Given the description of an element on the screen output the (x, y) to click on. 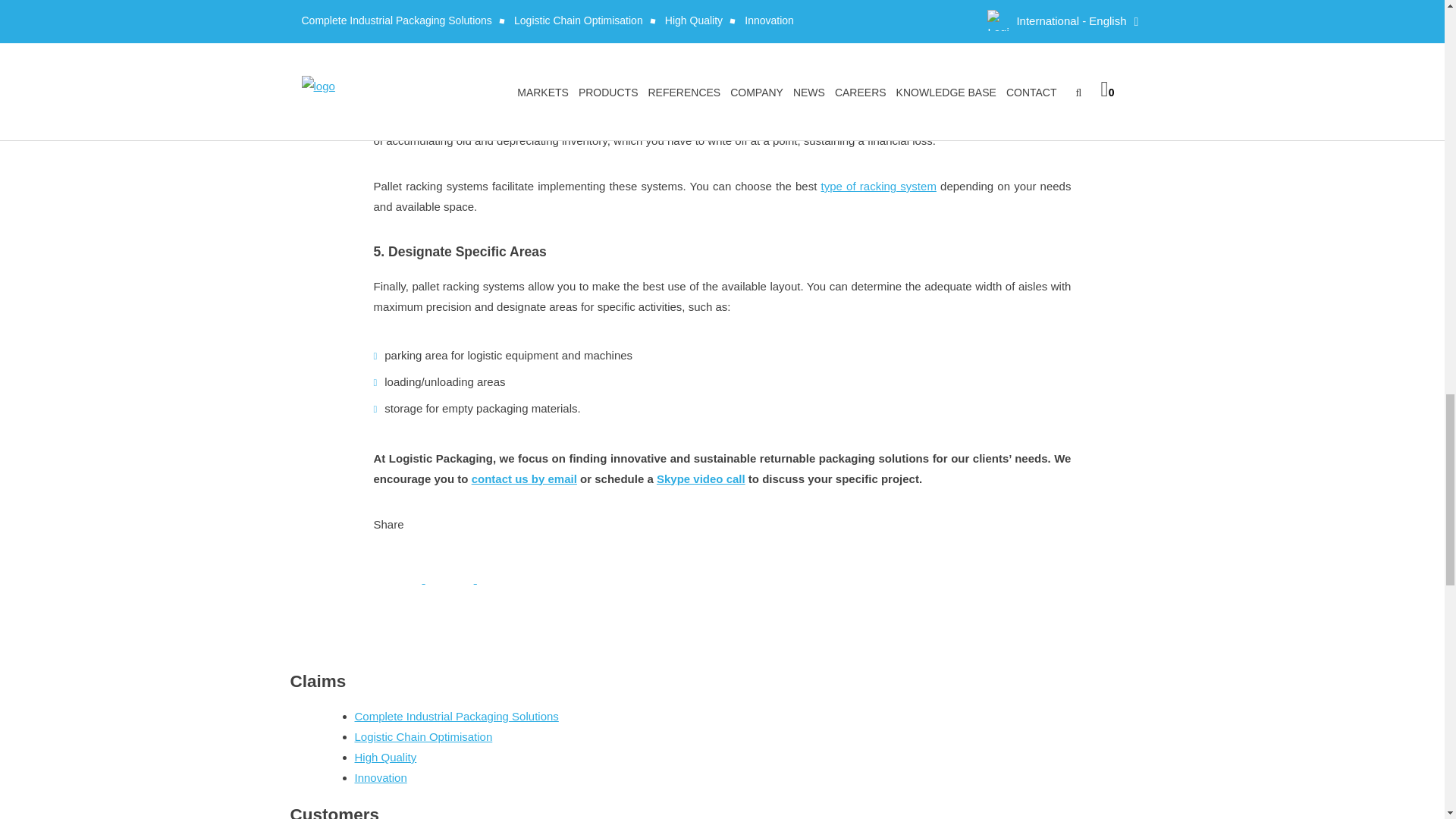
type of racking system (878, 185)
contact us by email (523, 478)
High Quality (385, 757)
Complete Industrial Packaging Solutions (457, 716)
Skype video call (700, 478)
Logistic Chain Optimisation (424, 736)
Innovation (381, 777)
